Given the description of an element on the screen output the (x, y) to click on. 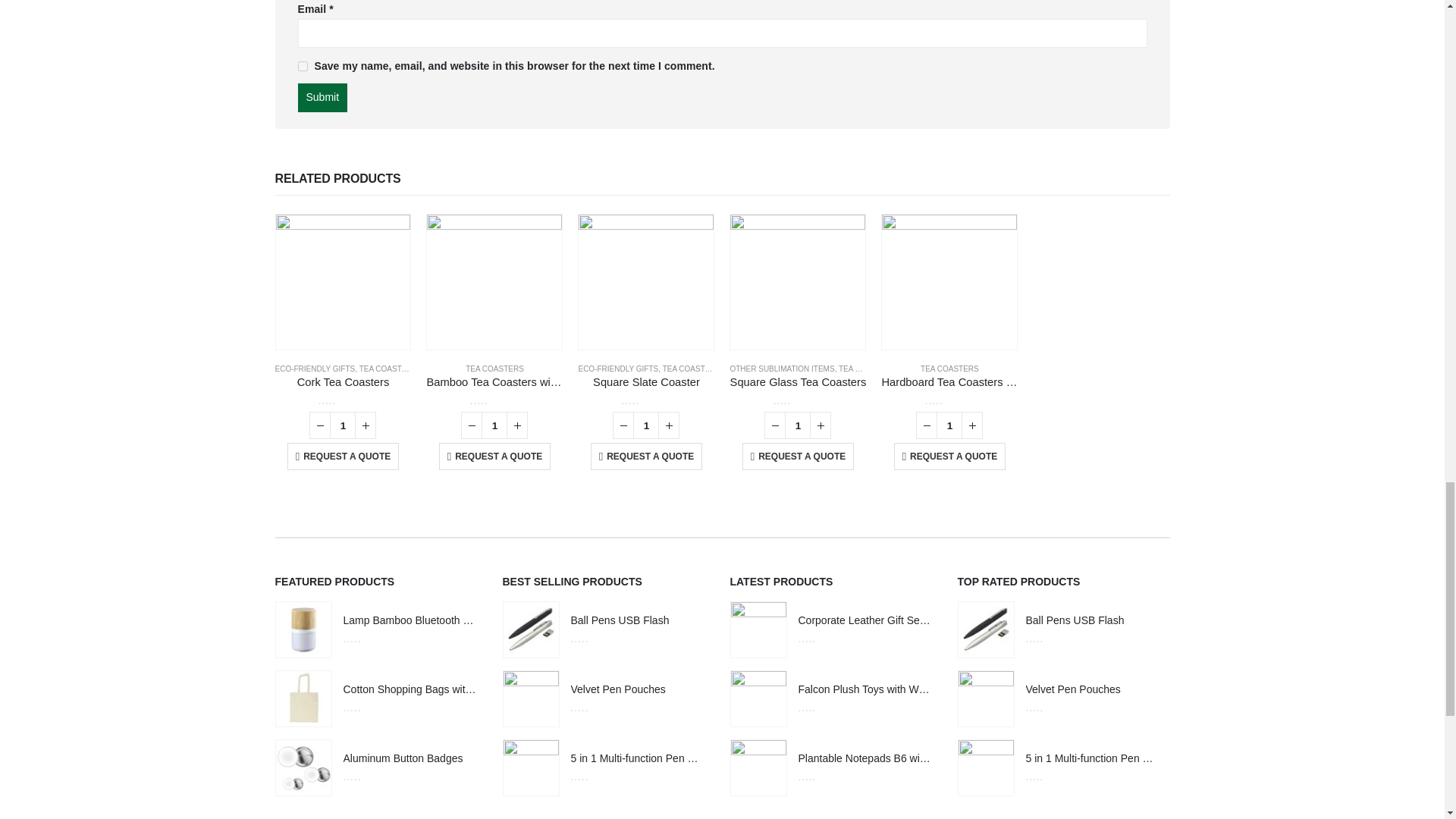
0 (493, 399)
1 (493, 424)
0 (342, 399)
1 (342, 424)
1 (646, 424)
1 (797, 424)
1 (949, 424)
Submit (322, 97)
0 (646, 399)
yes (302, 66)
